Given the description of an element on the screen output the (x, y) to click on. 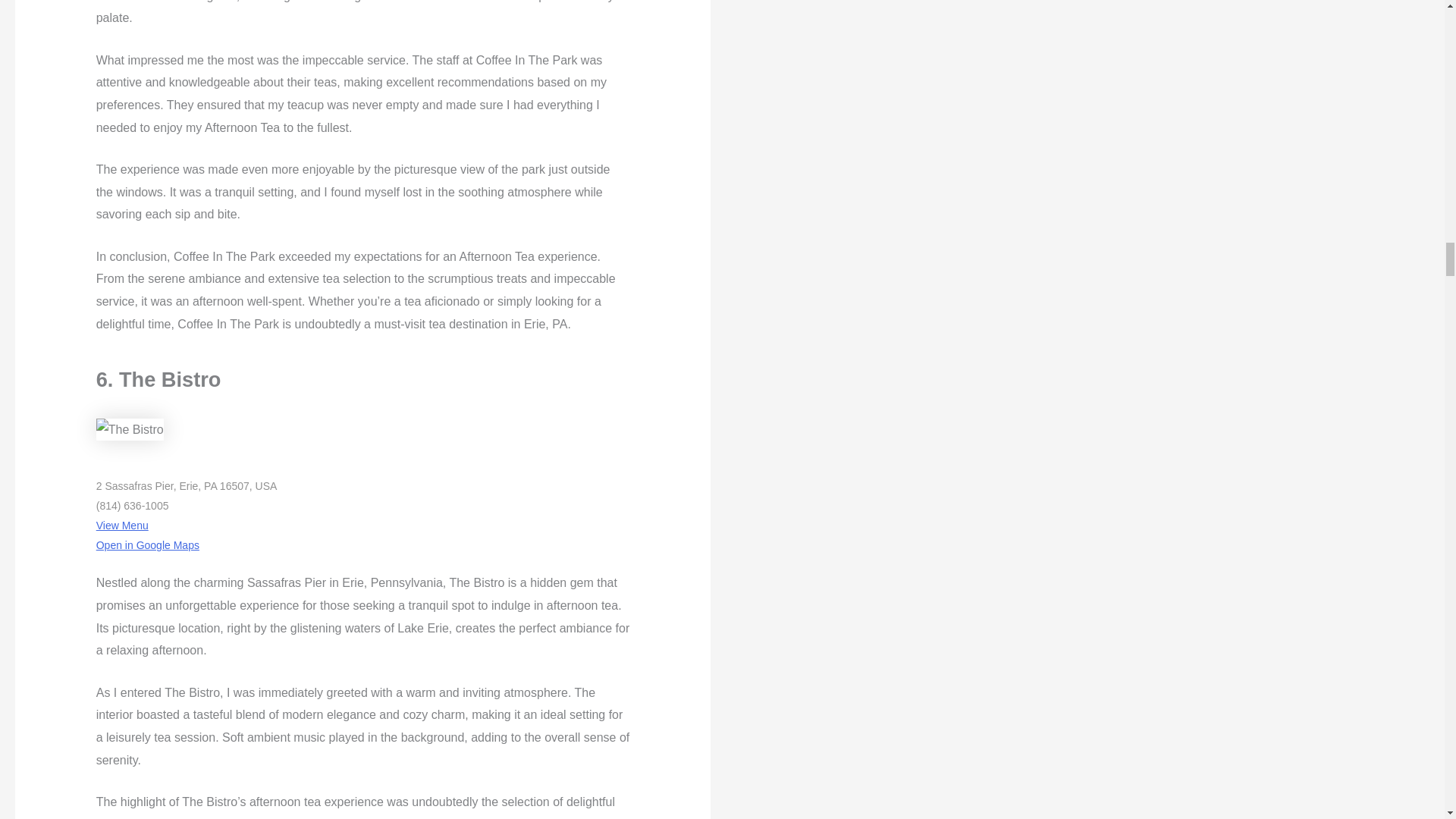
Open in Google Maps (147, 544)
View Menu (122, 525)
